Given the description of an element on the screen output the (x, y) to click on. 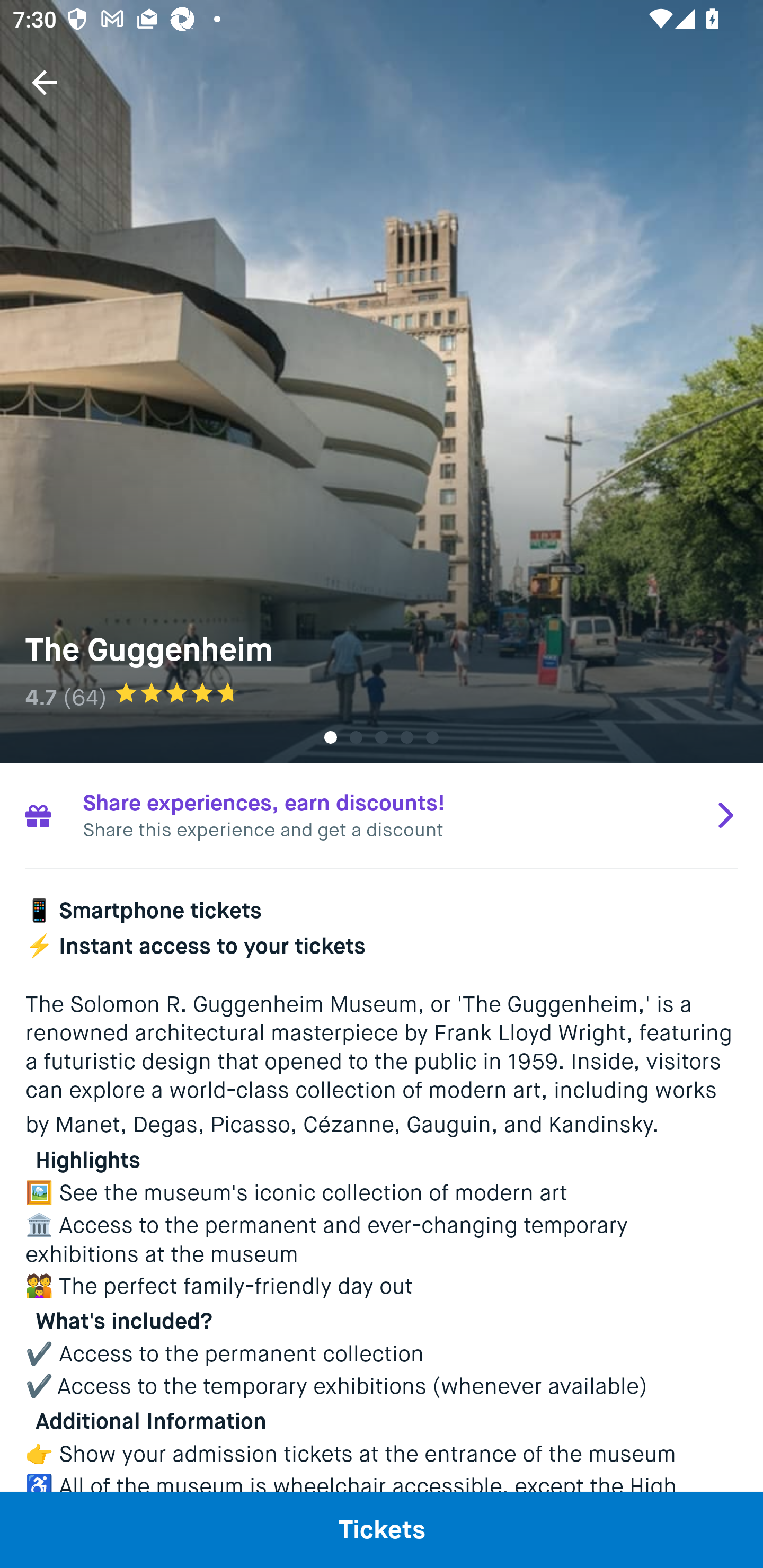
Navigate up (44, 82)
(64) (84, 697)
Tickets (381, 1529)
